Given the description of an element on the screen output the (x, y) to click on. 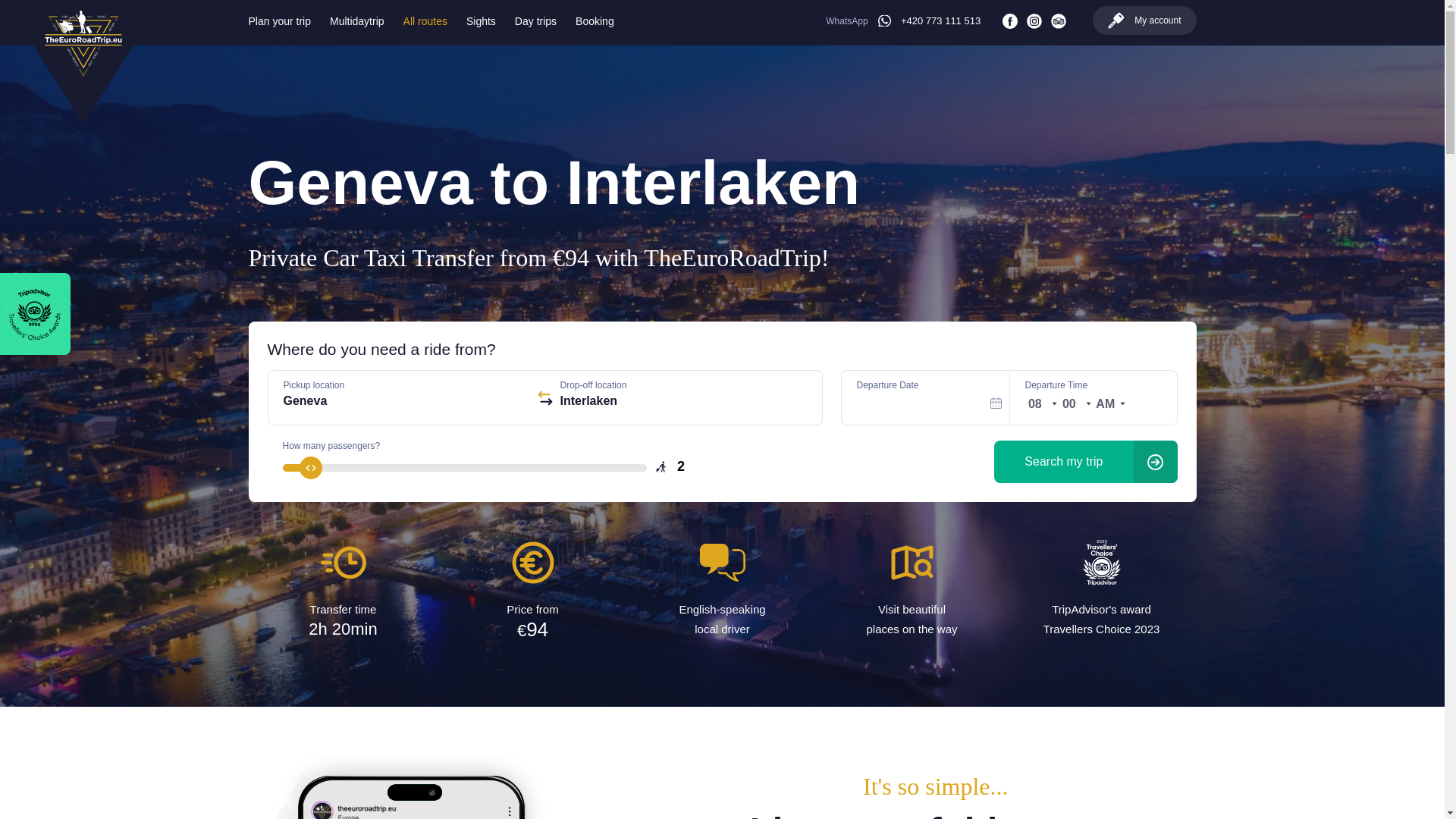
Multidaytrip (357, 21)
Search my trip (1085, 461)
Plan your trip (279, 21)
All routes (424, 21)
Geneva (405, 403)
Return to homepage (83, 72)
My account (1144, 20)
Booking (594, 21)
Our Facebook (1010, 21)
Our TripAdvisor (1058, 21)
Day trips (535, 21)
Swap places (544, 396)
Our Instagram (1034, 21)
Interlaken (682, 403)
Sights (480, 21)
